Given the description of an element on the screen output the (x, y) to click on. 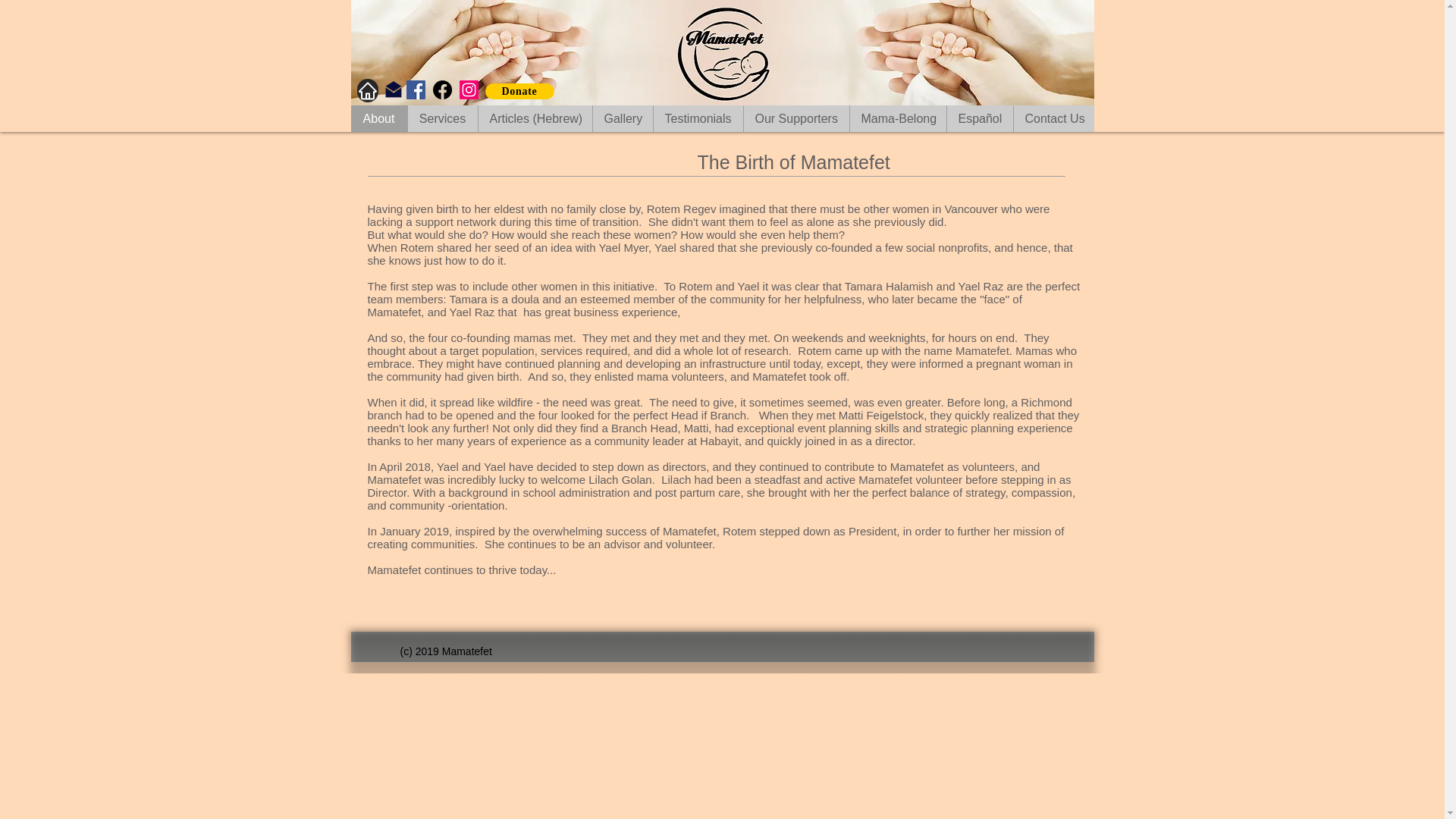
Mama-Belong (897, 118)
Testimonials (697, 118)
Services (441, 118)
Our Supporters (795, 118)
About (378, 118)
Gallery (621, 118)
Contact Us (1053, 118)
